Given the description of an element on the screen output the (x, y) to click on. 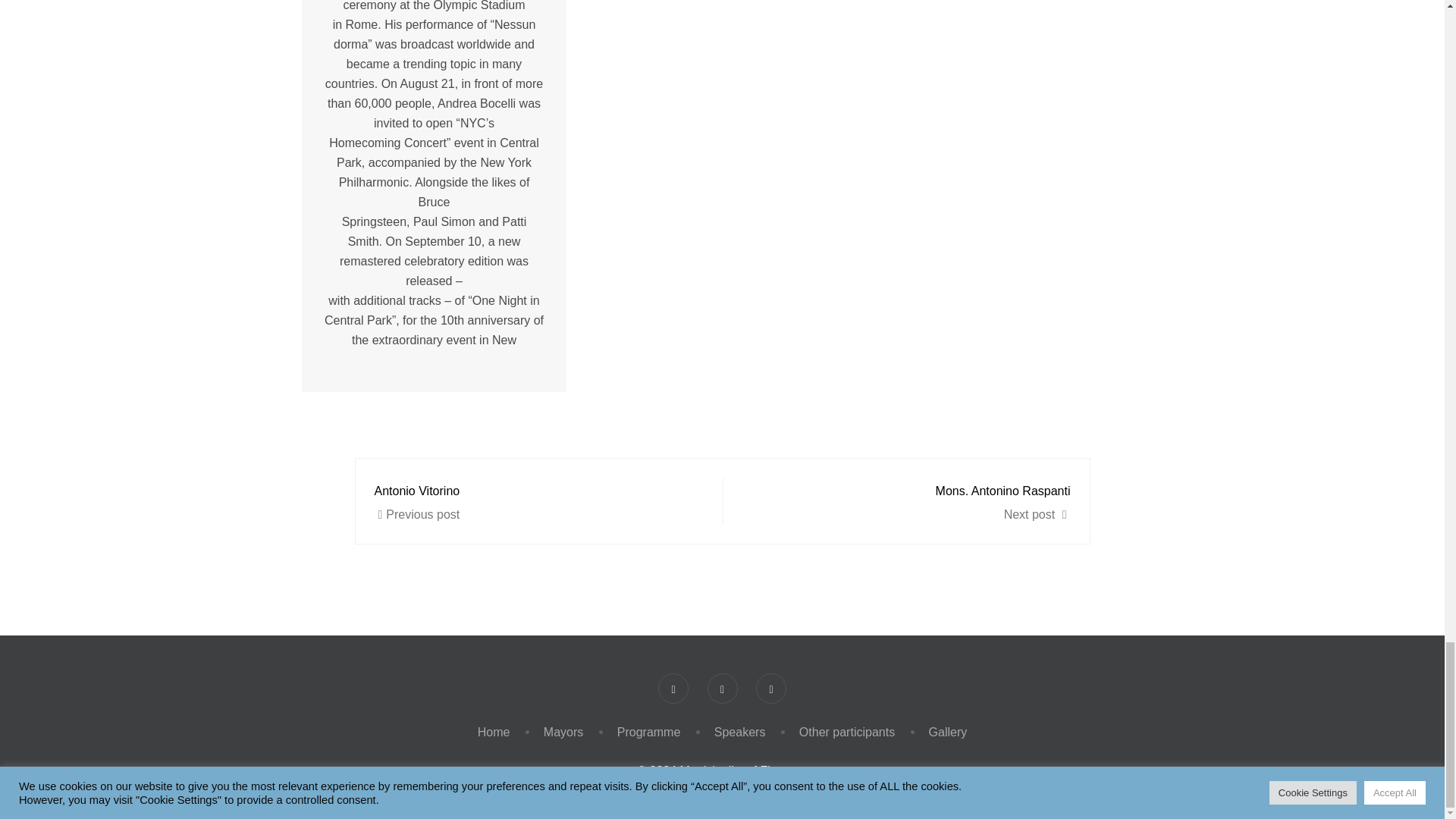
Speakers (739, 731)
Gallery (912, 500)
Programme (948, 731)
Other participants (649, 731)
Home (533, 500)
Mayors (847, 731)
